Given the description of an element on the screen output the (x, y) to click on. 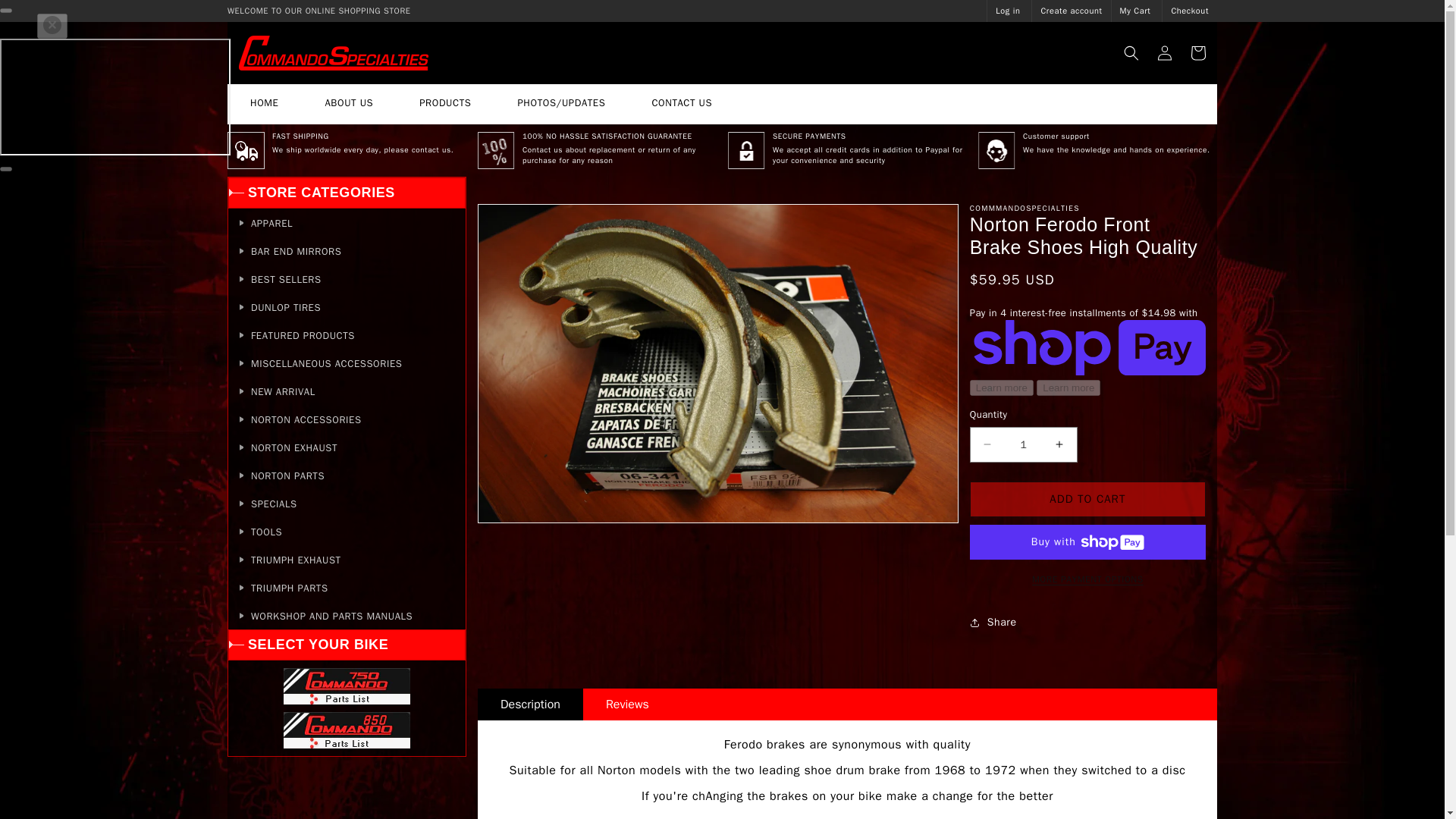
APPAREL (346, 221)
DUNLOP TIRES (346, 306)
1 (1023, 444)
PRODUCTS (444, 104)
BAR END MIRRORS (346, 250)
BEST SELLERS (346, 277)
HOME (264, 104)
NORTON ACCESSORIES (346, 418)
Log in (1007, 9)
Cart (1197, 52)
Create account (1071, 9)
My Cart (1135, 9)
ABOUT US (348, 104)
Log in (1164, 52)
CONTACT US (681, 104)
